Given the description of an element on the screen output the (x, y) to click on. 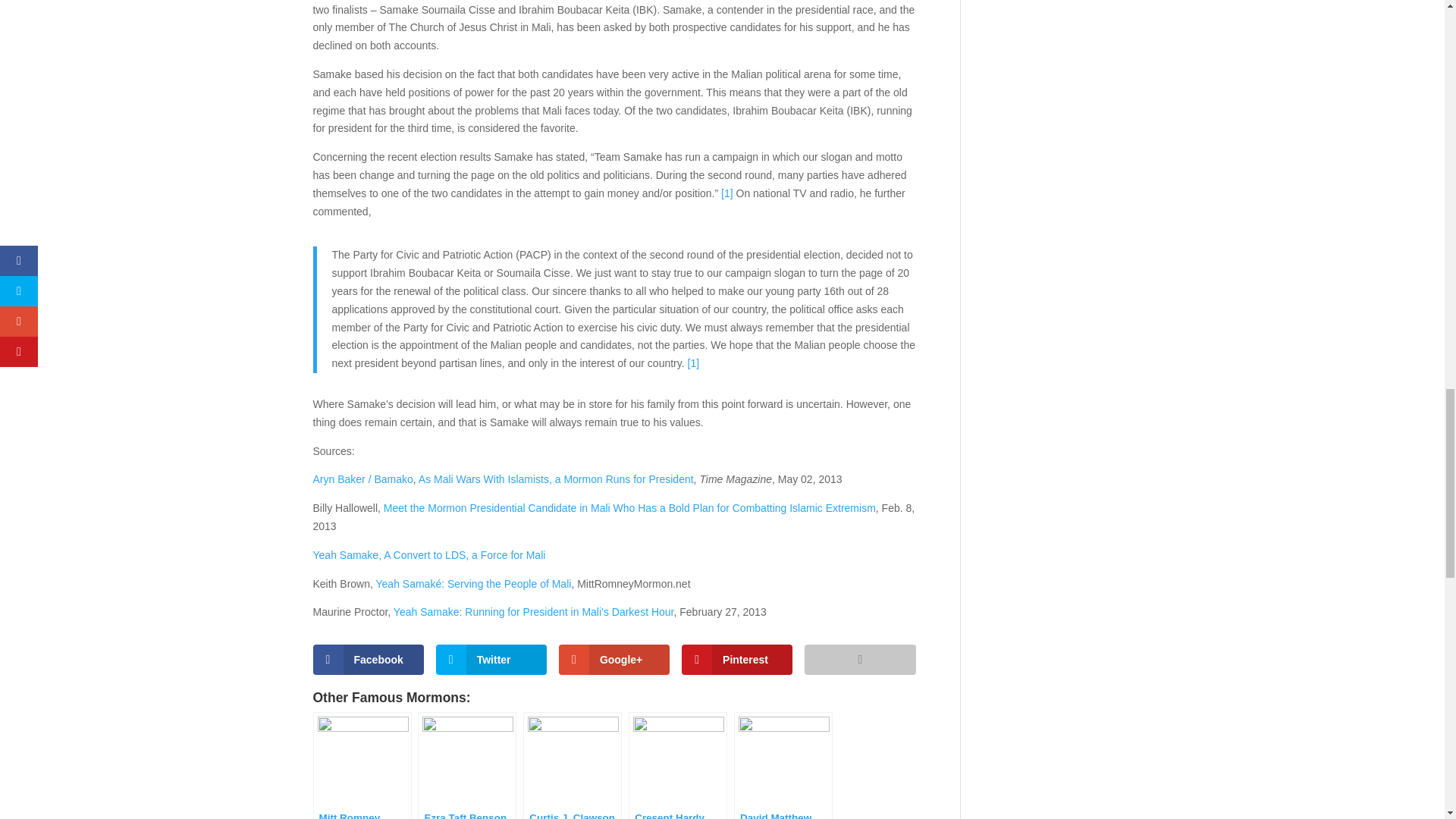
Mitt Romney (361, 765)
Twitter (491, 659)
Curtis J. Clawson (571, 765)
Facebook (368, 659)
Yeah Samake will Stay True to Change (693, 363)
As Mali Wars With Islamists, a Mormon Runs for President (556, 479)
Yeah Samake, A Convert to LDS, a Force for Mali (428, 554)
Mitt Romney (361, 765)
Ezra Taft Benson (466, 765)
Curtis J. Clawson (571, 765)
